Given the description of an element on the screen output the (x, y) to click on. 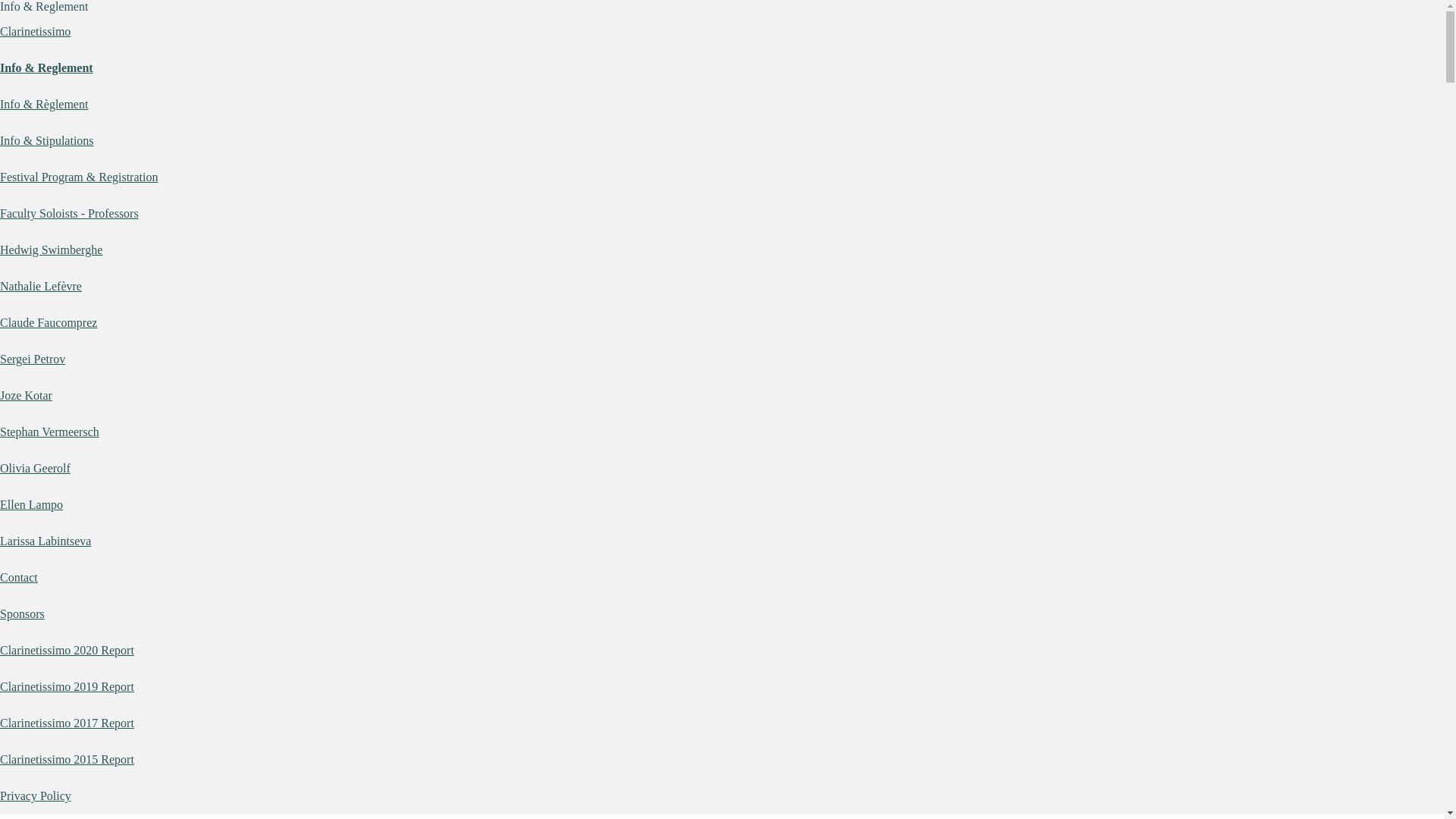
Faculty Soloists - Professors Element type: text (69, 213)
Claude Faucomprez Element type: text (48, 322)
Festival Program & Registration Element type: text (78, 176)
Info & Reglement Element type: text (46, 67)
Clarinetissimo 2015 Report Element type: text (67, 759)
Clarinetissimo Element type: text (35, 31)
Clarinetissimo 2020 Report Element type: text (67, 649)
Hedwig Swimberghe Element type: text (51, 249)
Ellen Lampo Element type: text (31, 504)
Larissa Labintseva Element type: text (45, 540)
Sponsors Element type: text (22, 613)
Clarinetissimo 2019 Report Element type: text (67, 686)
Contact Element type: text (18, 577)
Clarinetissimo 2017 Report Element type: text (67, 722)
Olivia Geerolf Element type: text (35, 467)
Privacy Policy Element type: text (35, 795)
Info & Stipulations Element type: text (47, 140)
Stephan Vermeersch Element type: text (49, 431)
Sergei Petrov Element type: text (32, 358)
Joze Kotar Element type: text (26, 395)
